Given the description of an element on the screen output the (x, y) to click on. 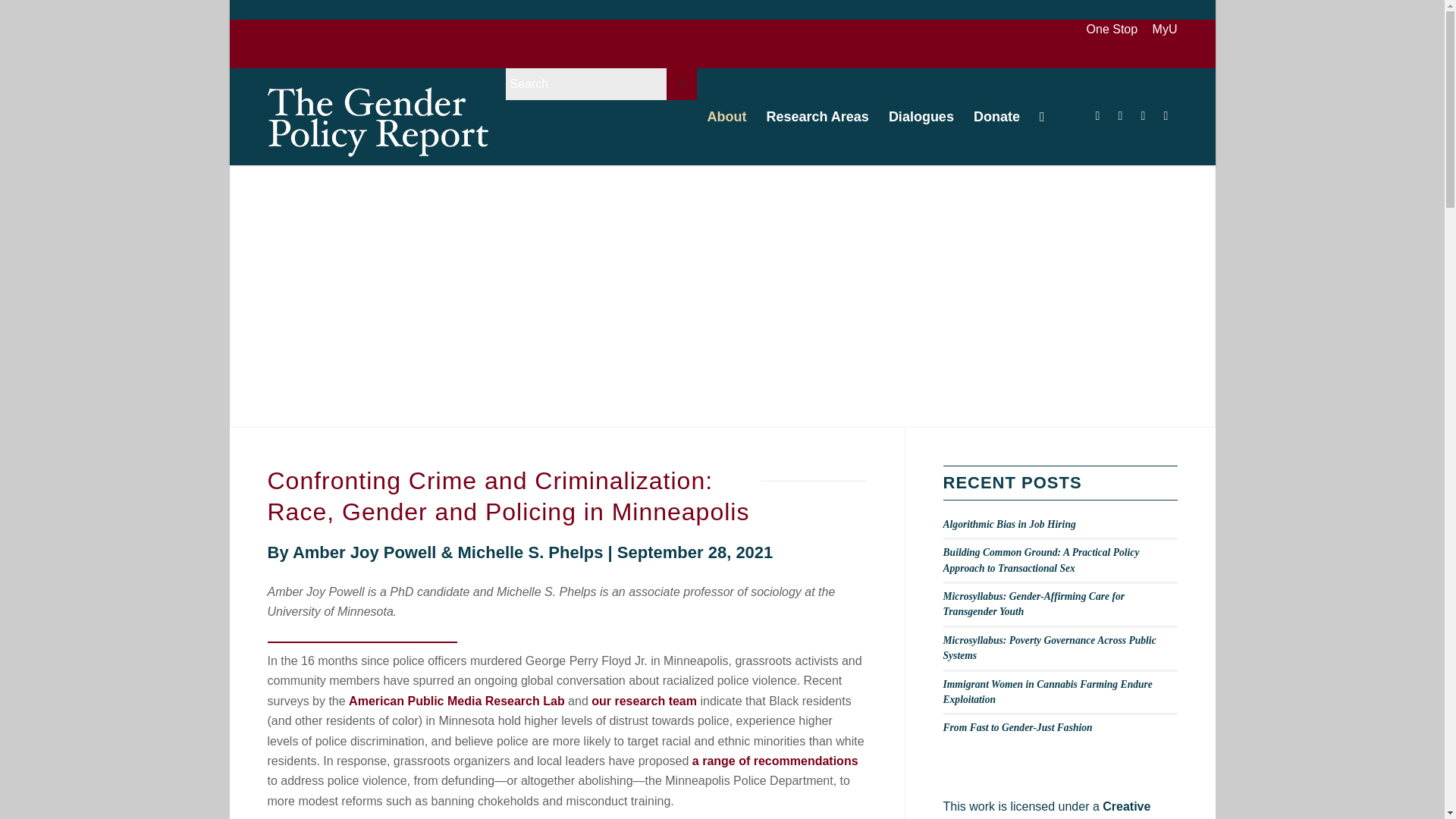
Research Areas (816, 116)
a range of recommendations (776, 760)
our research team (644, 700)
American Public Media Research Lab (456, 700)
